Given the description of an element on the screen output the (x, y) to click on. 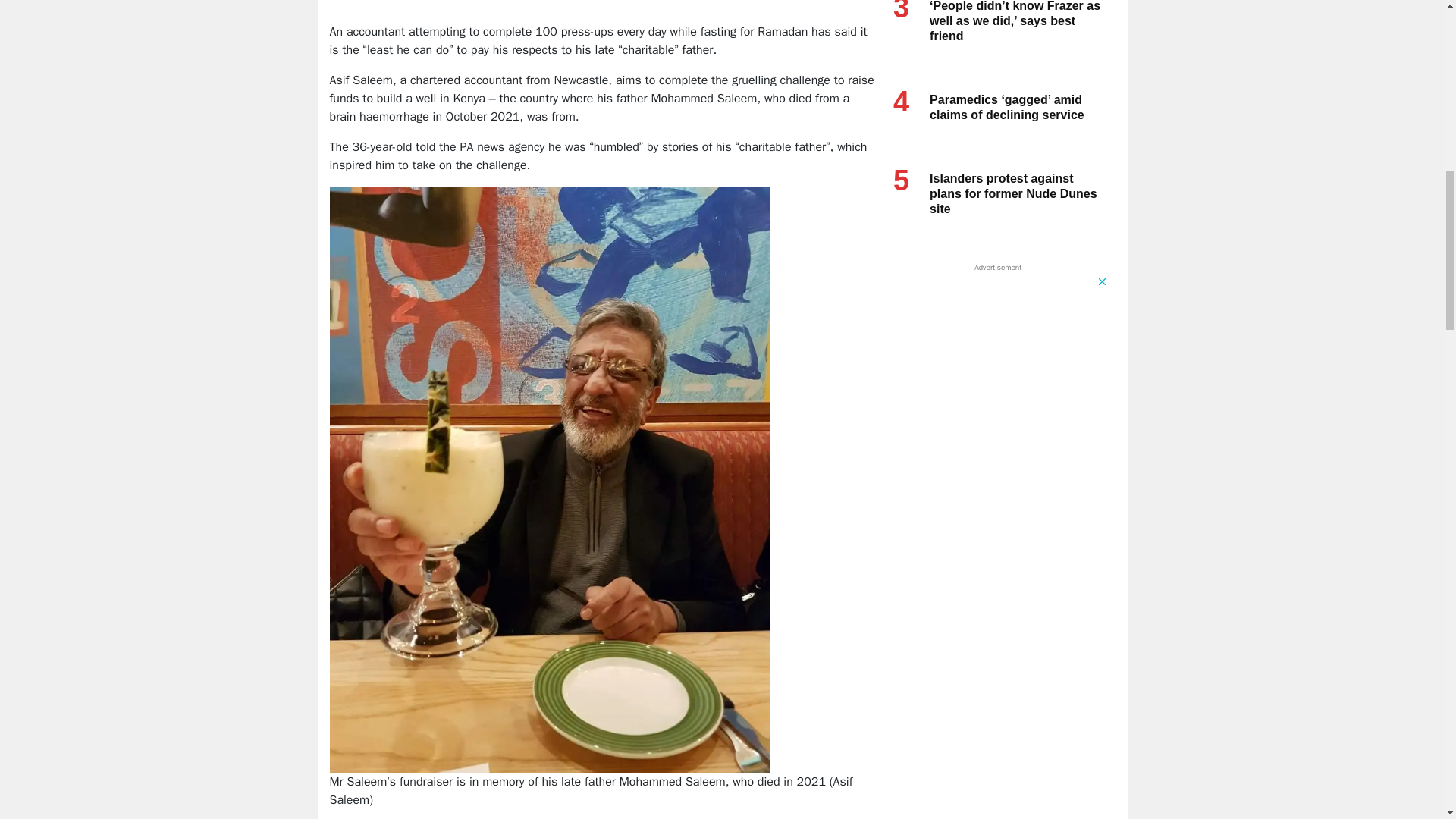
3rd party ad content (604, 3)
3rd party ad content (994, 370)
